Given the description of an element on the screen output the (x, y) to click on. 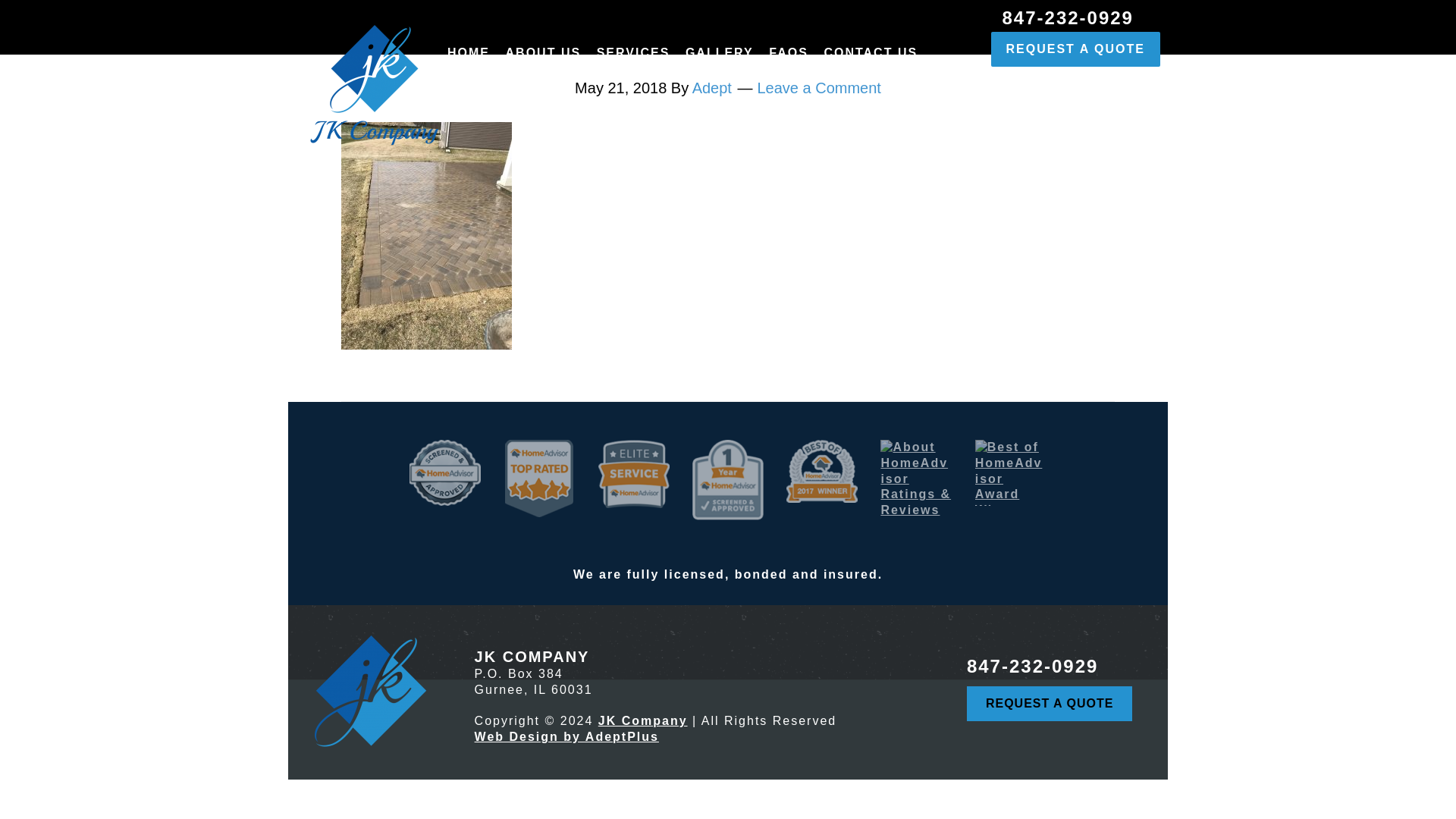
Web Design by AdeptPlus (566, 736)
CONTACT US (870, 56)
Adept (712, 87)
REQUEST A QUOTE (1049, 703)
REQUEST A QUOTE (1075, 48)
HA Elite Service (633, 473)
Leave a Comment (818, 87)
ABOUT US (542, 56)
GALLERY (719, 56)
847-232-0929 (1067, 13)
Gurnee Web Design by AdeptPlus (566, 736)
HA Best of 2017 (821, 470)
JK Company (642, 720)
847-232-0929 (1031, 666)
